Given the description of an element on the screen output the (x, y) to click on. 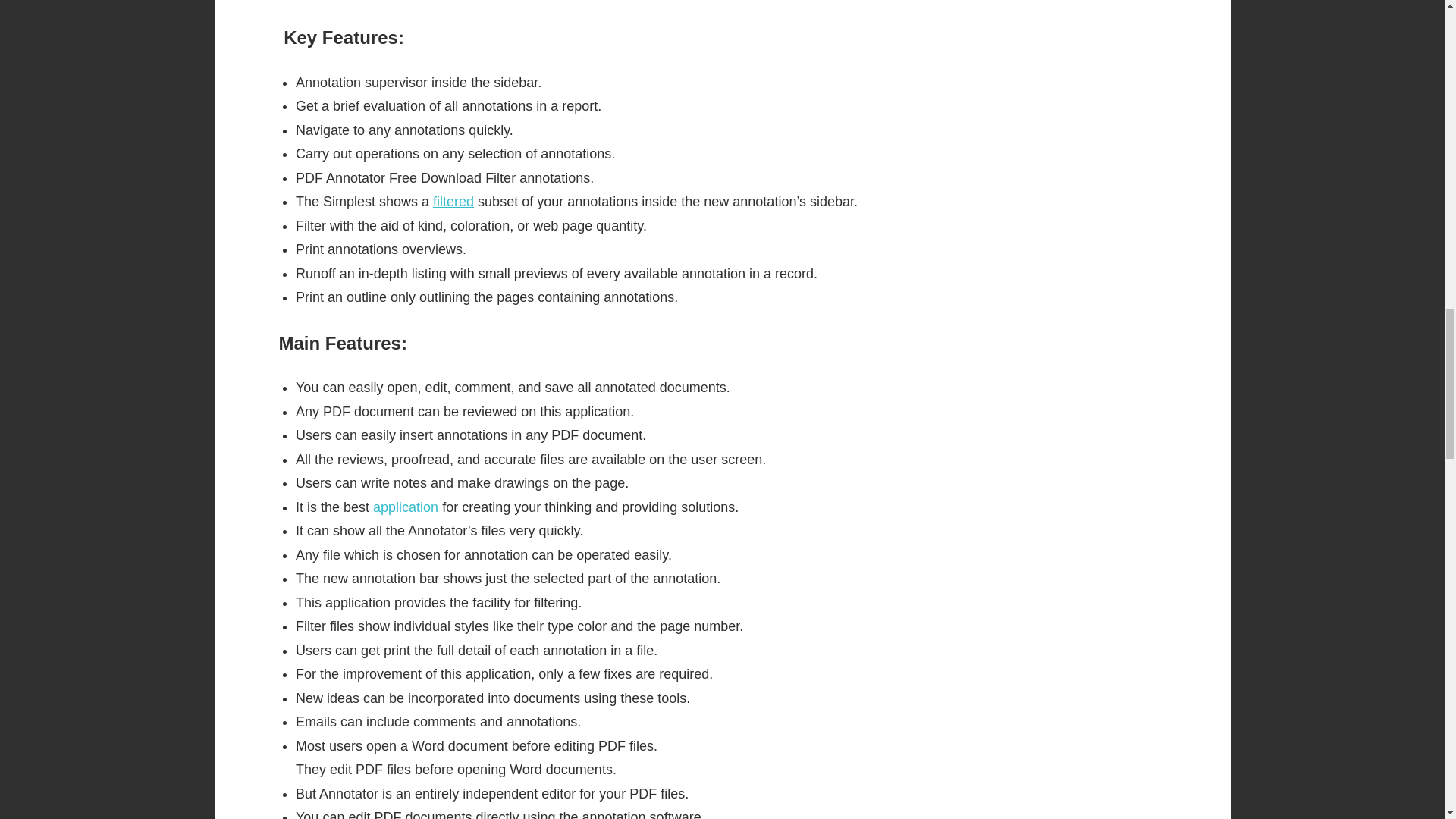
application (403, 507)
filtered (453, 201)
